Given the description of an element on the screen output the (x, y) to click on. 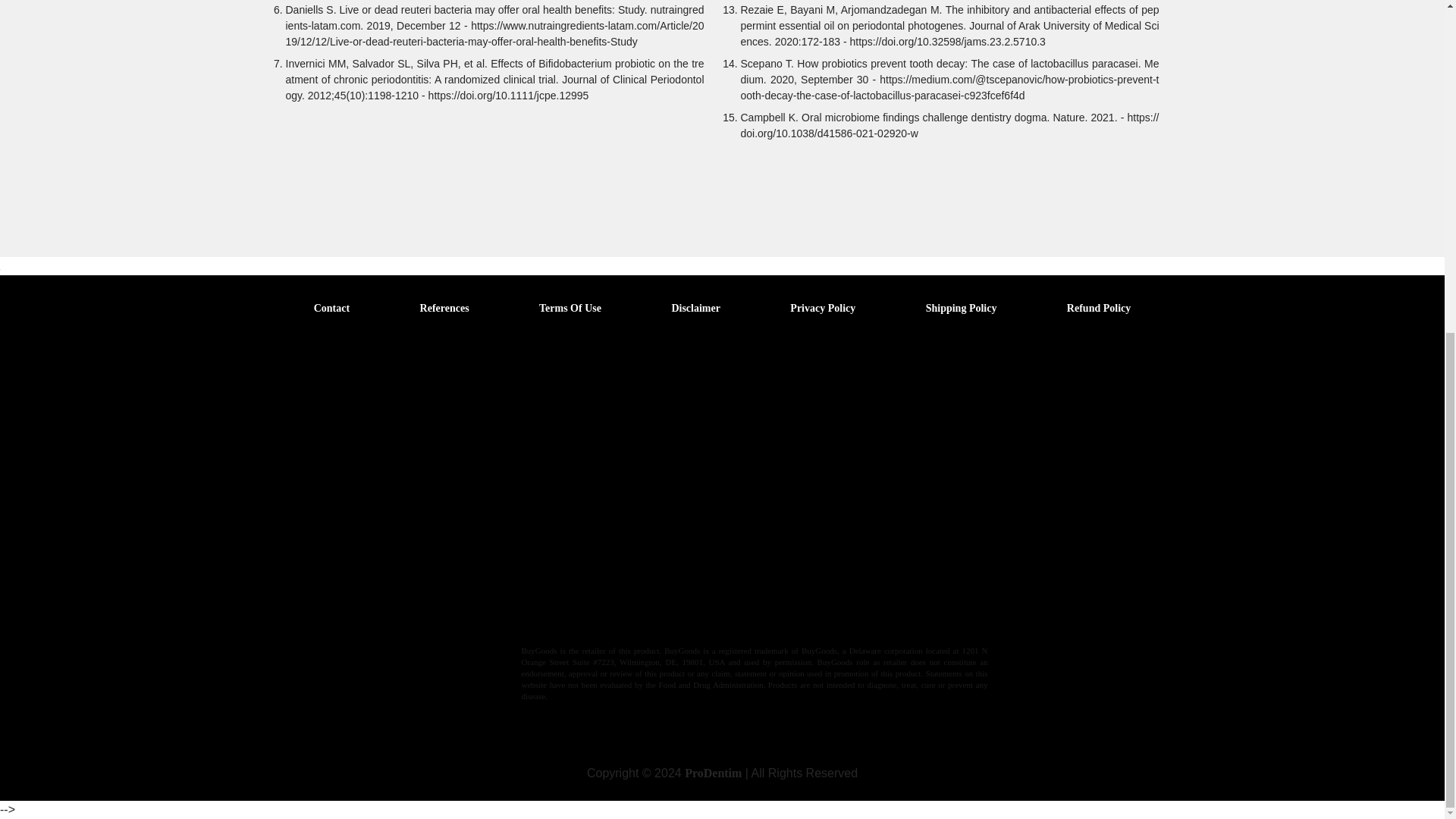
Contact (331, 307)
Terms Of Use (569, 307)
Shipping Policy (961, 307)
References (444, 307)
Privacy Policy (823, 307)
Refund Policy (1099, 307)
Disclaimer (695, 307)
Read more here (659, 617)
